Given the description of an element on the screen output the (x, y) to click on. 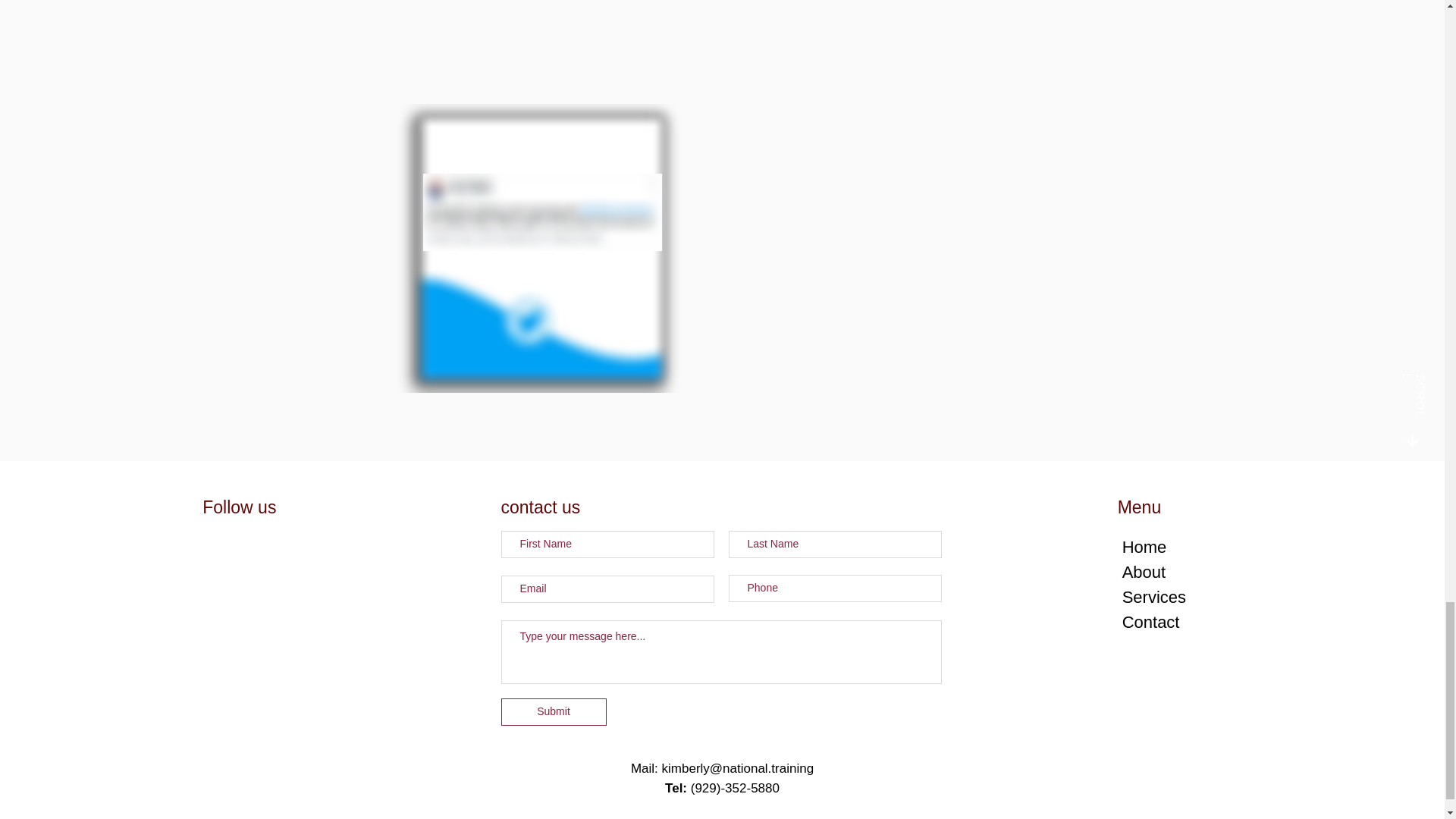
Submit (552, 711)
About (1144, 571)
Contact (1150, 621)
Home (1144, 546)
Services (1154, 597)
